Given the description of an element on the screen output the (x, y) to click on. 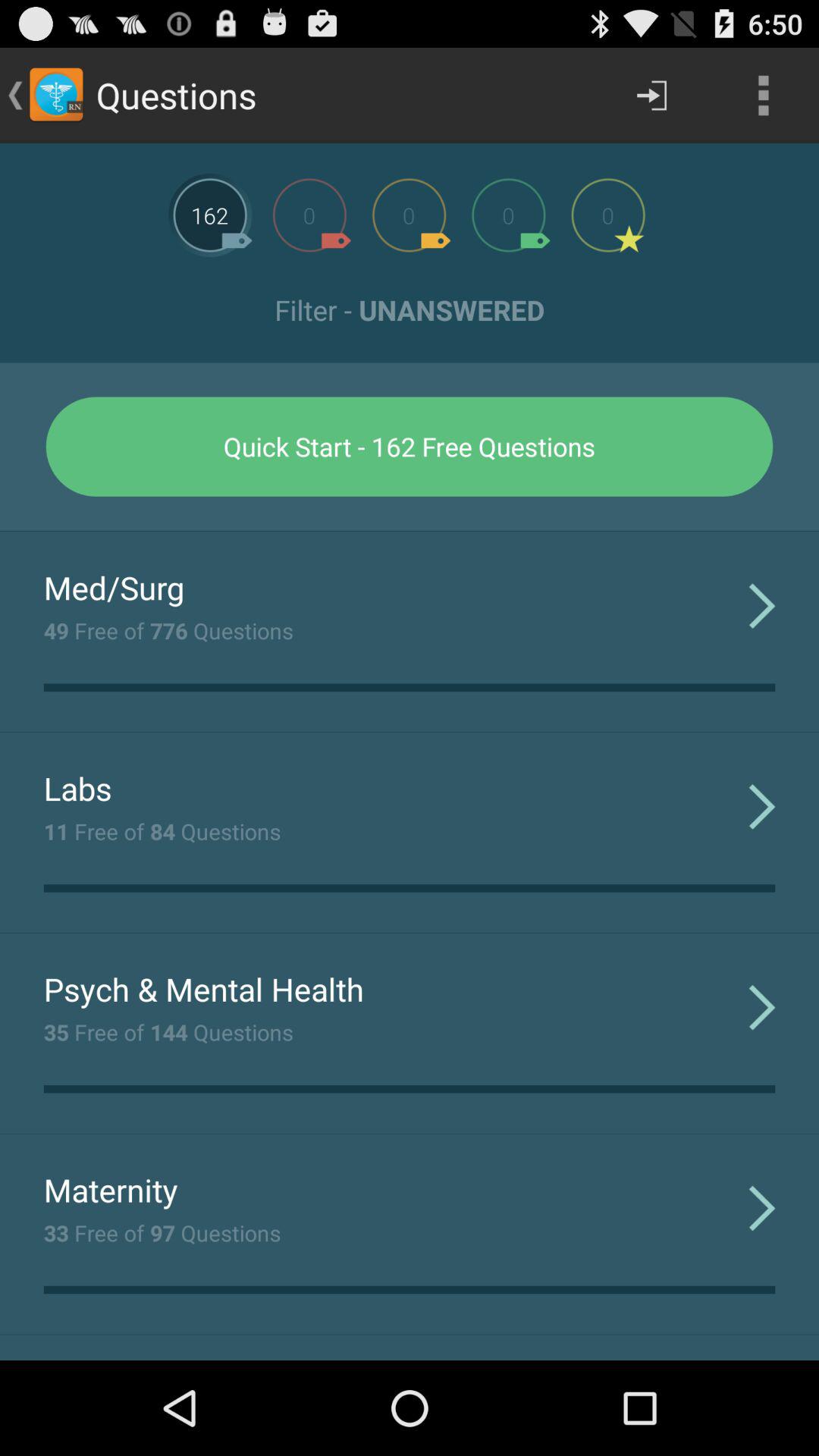
see favorited (608, 215)
